Given the description of an element on the screen output the (x, y) to click on. 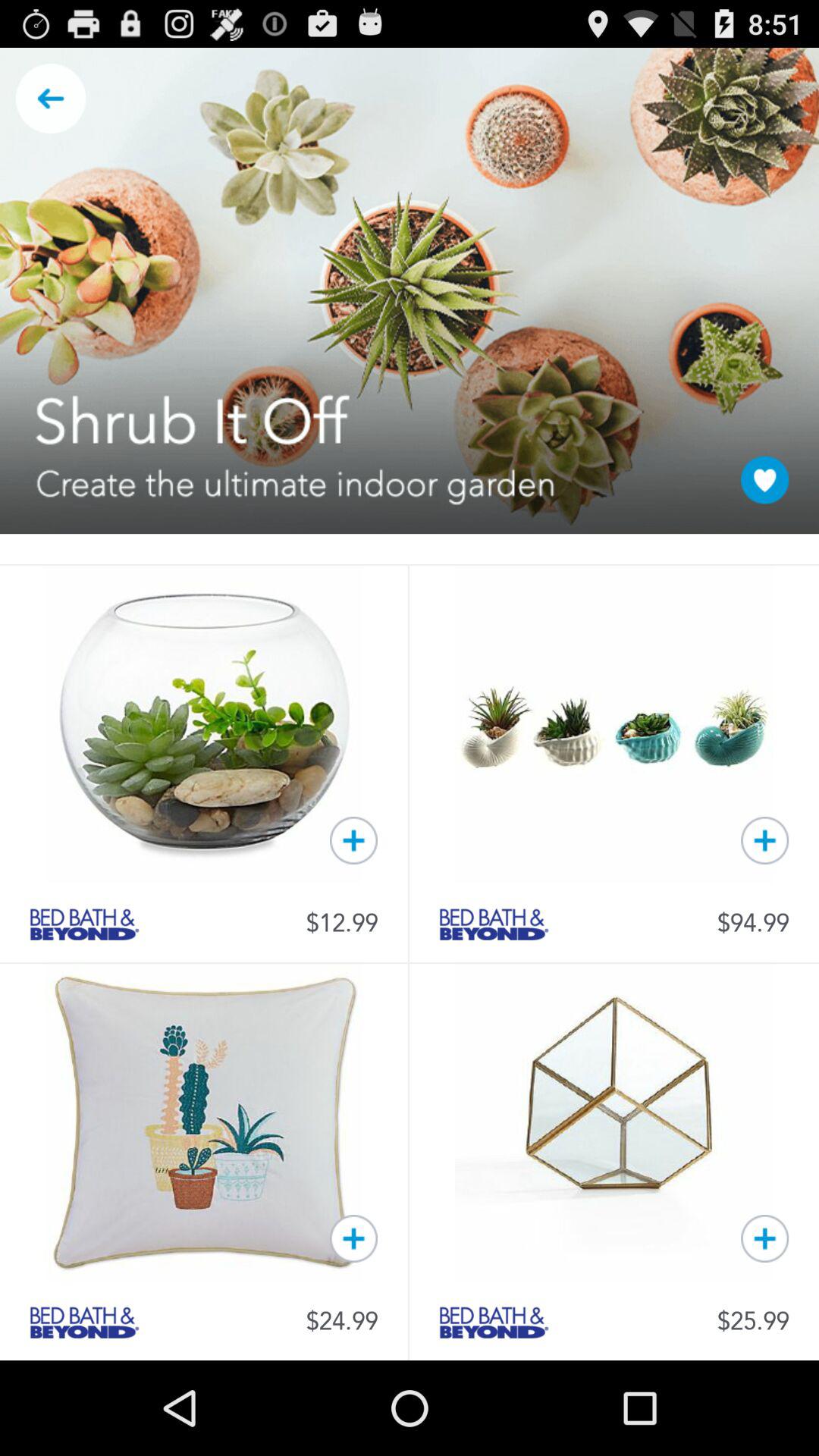
seller (493, 924)
